Given the description of an element on the screen output the (x, y) to click on. 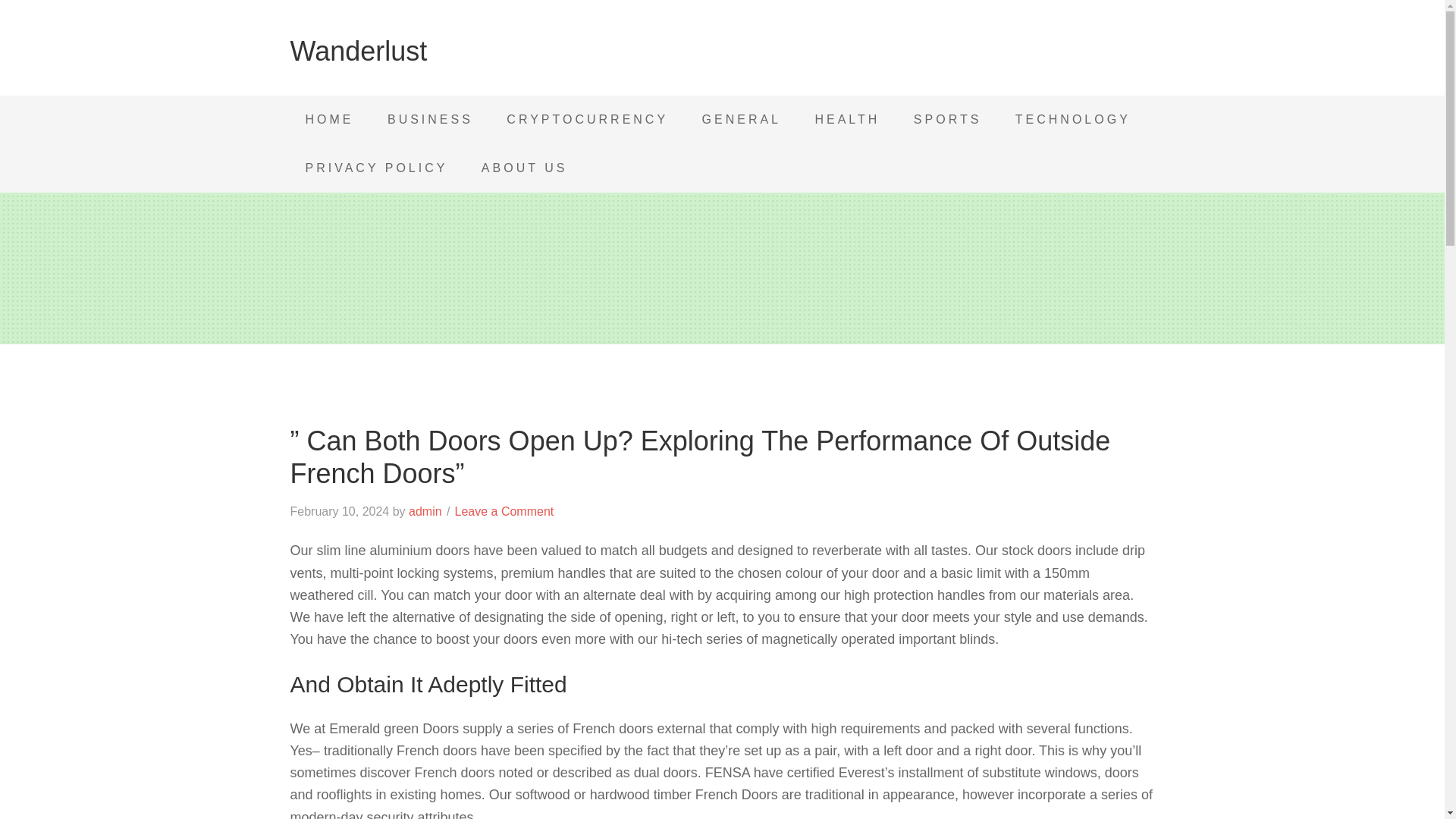
GENERAL (741, 119)
HEALTH (847, 119)
Wanderlust (357, 51)
SPORTS (947, 119)
ABOUT US (524, 168)
PRIVACY POLICY (376, 168)
TECHNOLOGY (1072, 119)
admin (425, 511)
Leave a Comment (504, 511)
HOME (328, 119)
CRYPTOCURRENCY (587, 119)
BUSINESS (429, 119)
